Given the description of an element on the screen output the (x, y) to click on. 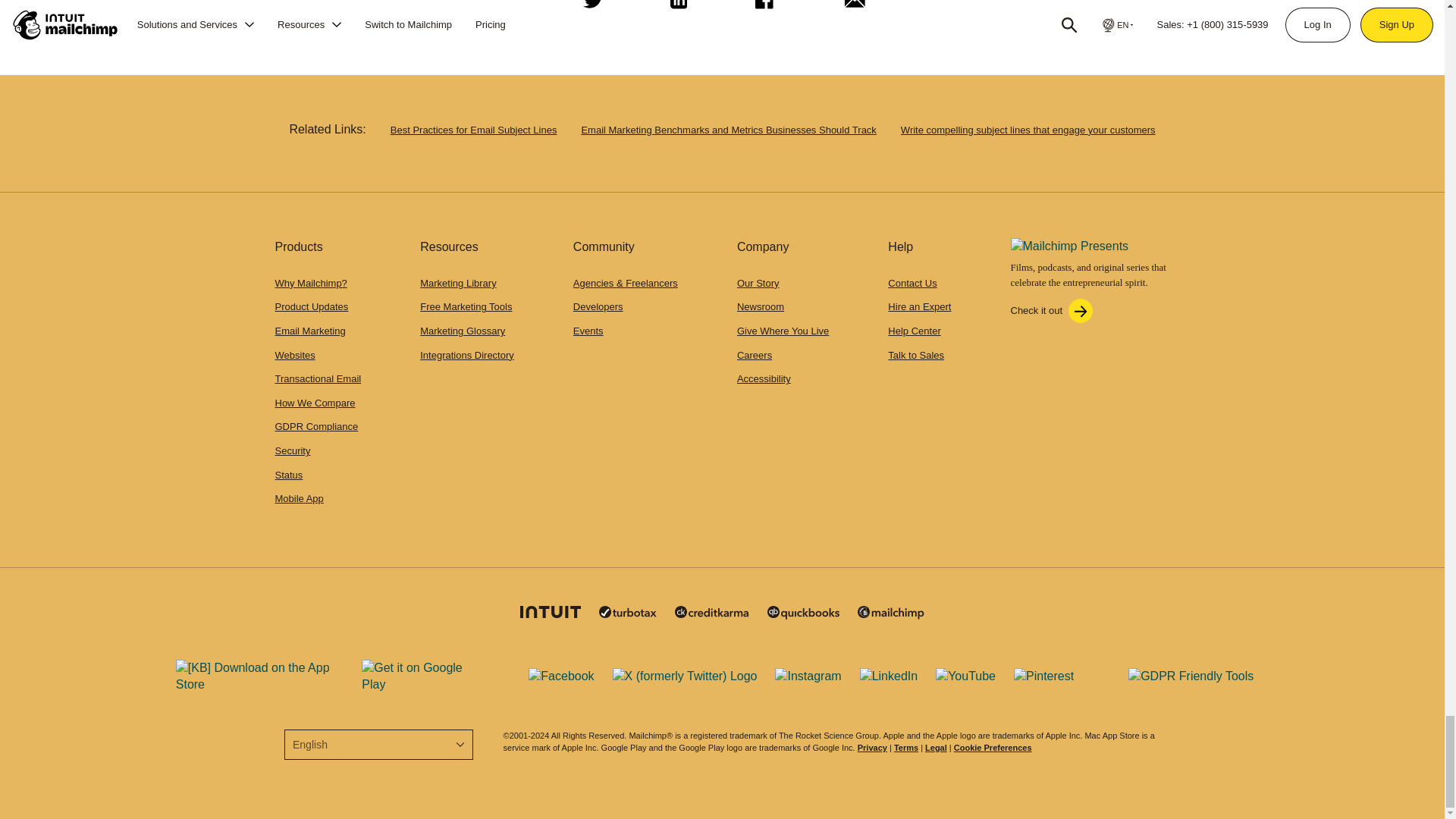
Share this article on Linkedin (676, 10)
Share this article on Twitter (590, 10)
